Given the description of an element on the screen output the (x, y) to click on. 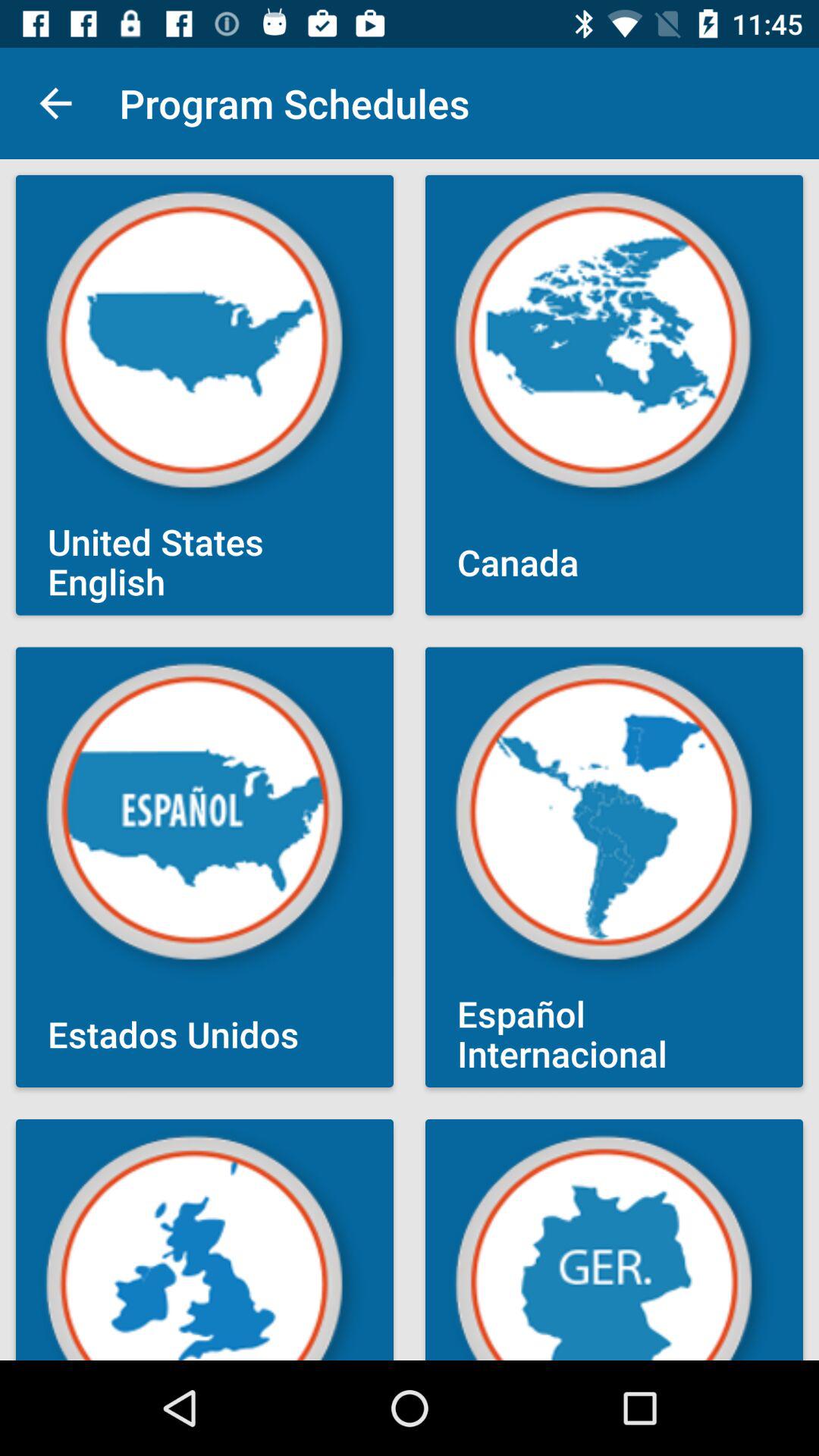
press item next to the program schedules item (55, 103)
